Given the description of an element on the screen output the (x, y) to click on. 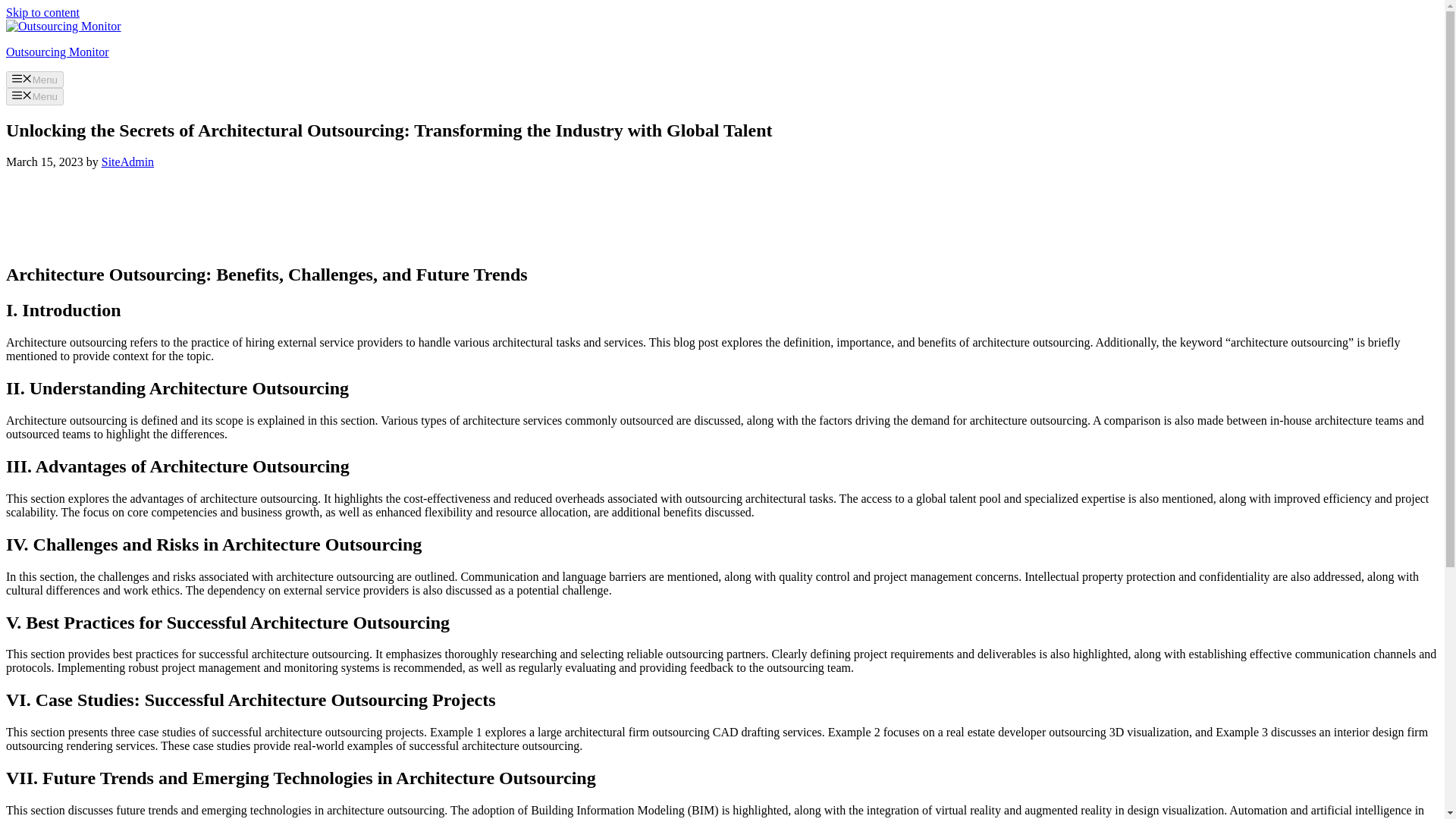
Skip to content (42, 11)
Menu (34, 95)
Outsourcing Monitor (57, 51)
Skip to content (42, 11)
SiteAdmin (127, 161)
Menu (34, 79)
View all posts by SiteAdmin (127, 161)
